Given the description of an element on the screen output the (x, y) to click on. 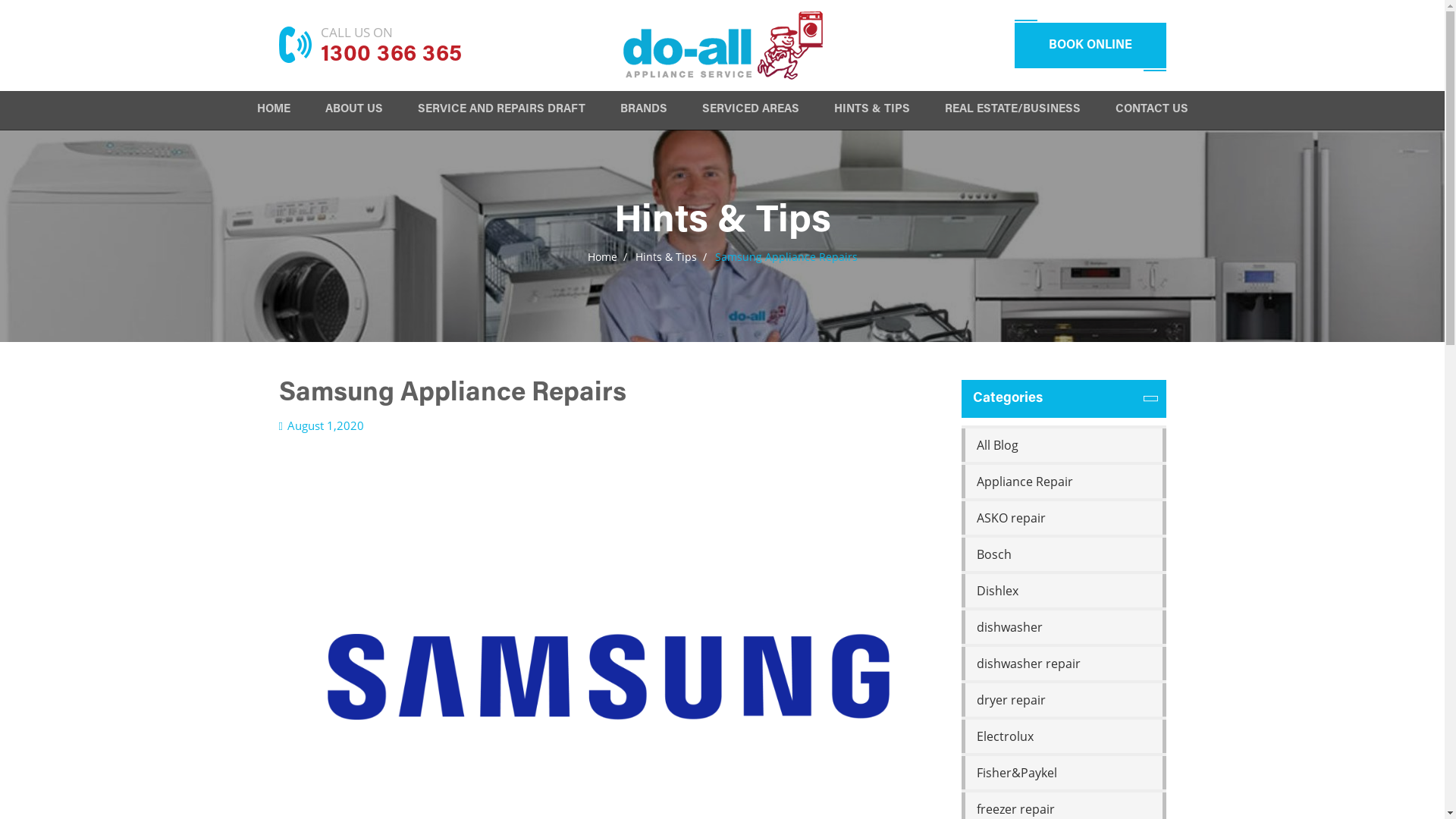
All Blog Element type: text (1063, 444)
Home Element type: text (601, 256)
ASKO repair Element type: text (1063, 517)
HOME Element type: text (272, 112)
BOOK ONLINE Element type: text (1090, 45)
Hints & Tips Element type: text (665, 256)
Appliance Repair Element type: text (1063, 481)
Electrolux Element type: text (1063, 736)
Dishlex Element type: text (1063, 590)
SERVICE AND REPAIRS DRAFT Element type: text (500, 112)
Electrical Appliance Repairs Element type: hover (722, 44)
Fisher&Paykel Element type: text (1063, 772)
Categories Element type: text (1063, 398)
CONTACT US Element type: text (1150, 112)
REAL ESTATE/BUSINESS Element type: text (1012, 112)
Bosch Element type: text (1063, 554)
1300 366 365 Element type: text (390, 55)
dryer repair Element type: text (1063, 699)
SERVICED AREAS Element type: text (750, 112)
dishwasher Element type: text (1063, 626)
dishwasher repair Element type: text (1063, 663)
ABOUT US Element type: text (353, 112)
BRANDS Element type: text (643, 112)
HINTS & TIPS Element type: text (872, 112)
